Given the description of an element on the screen output the (x, y) to click on. 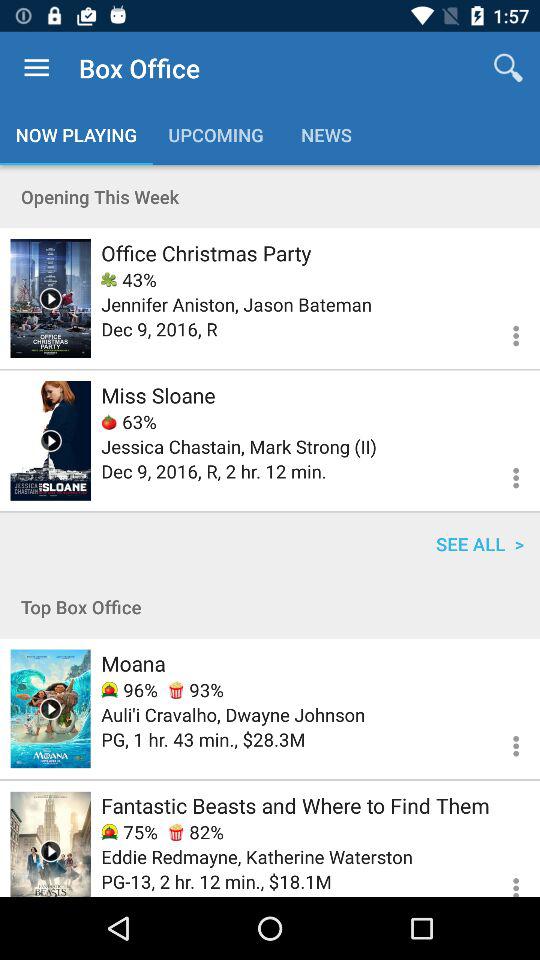
see more info (503, 743)
